Given the description of an element on the screen output the (x, y) to click on. 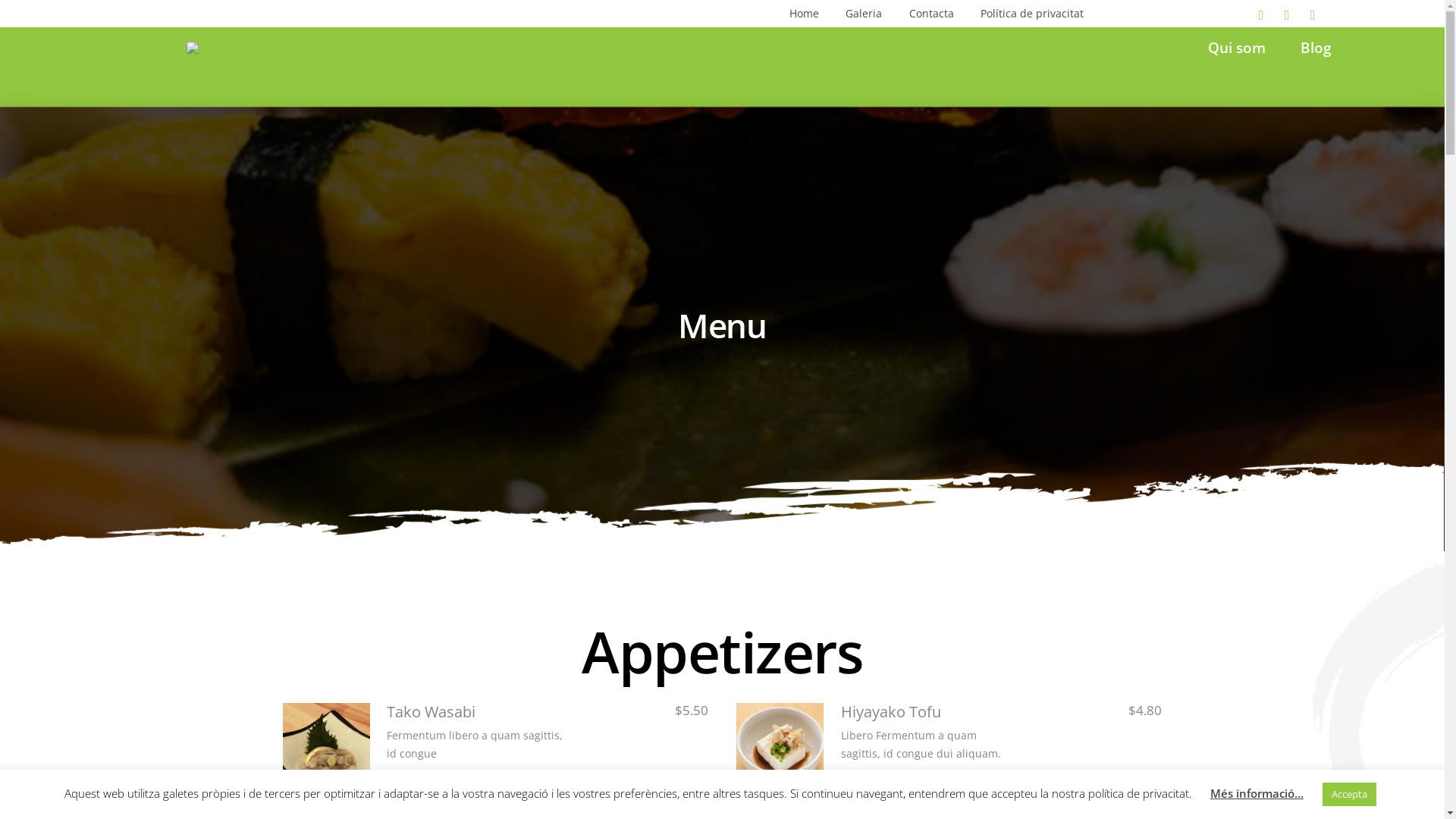
Menu Element type: hover (779, 746)
Galeria Element type: text (863, 13)
Qui som Element type: text (1236, 47)
Contacta Element type: text (930, 13)
Accepta Element type: text (1349, 794)
Menu Element type: hover (325, 746)
Blog Element type: text (1316, 47)
logo_2x Element type: hover (217, 50)
Home Element type: text (803, 13)
